Given the description of an element on the screen output the (x, y) to click on. 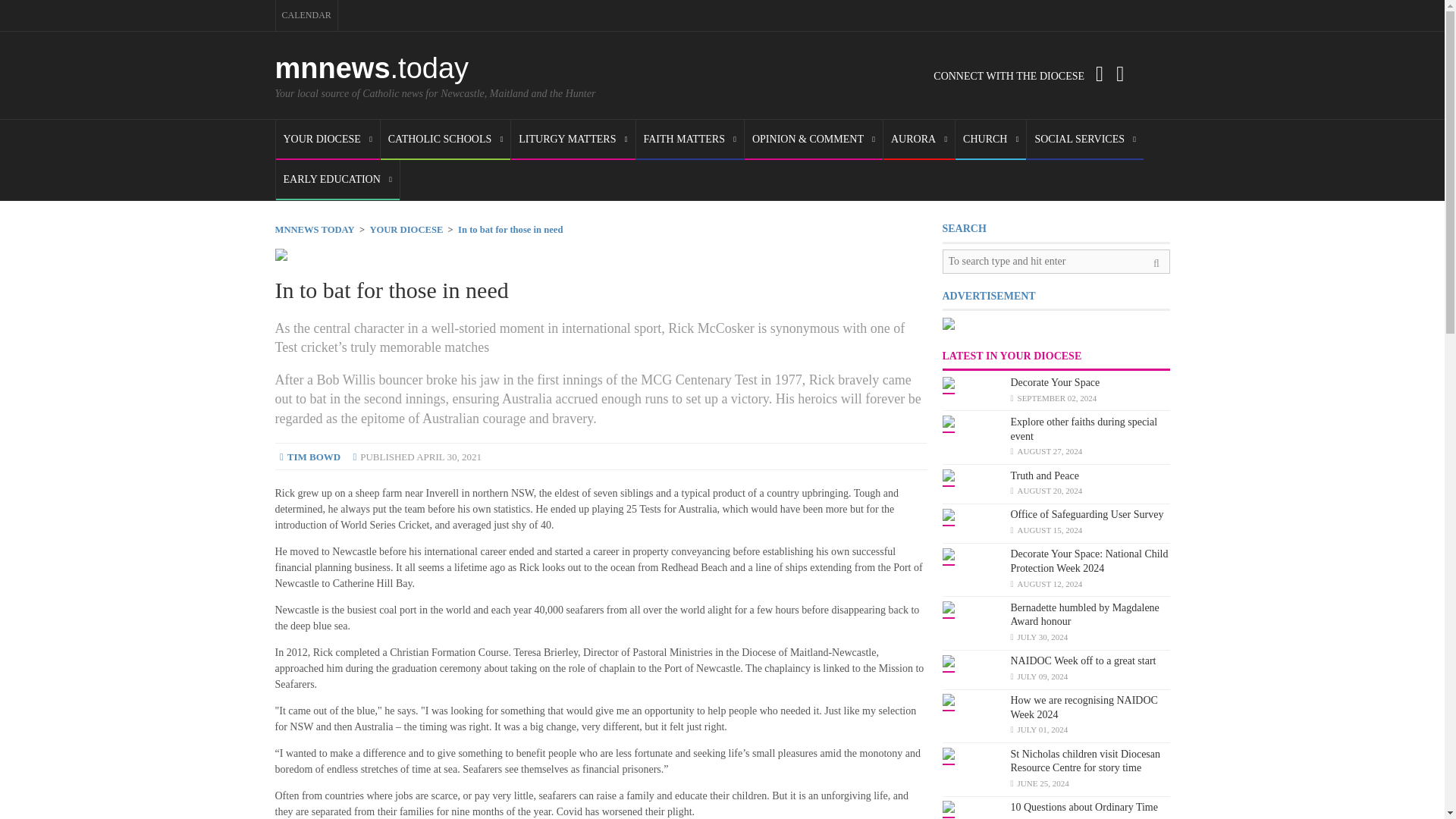
YOUR DIOCESE (328, 139)
LITURGY MATTERS (572, 139)
mnnews.today (371, 68)
CALENDAR (306, 15)
CATHOLIC SCHOOLS (445, 139)
